Given the description of an element on the screen output the (x, y) to click on. 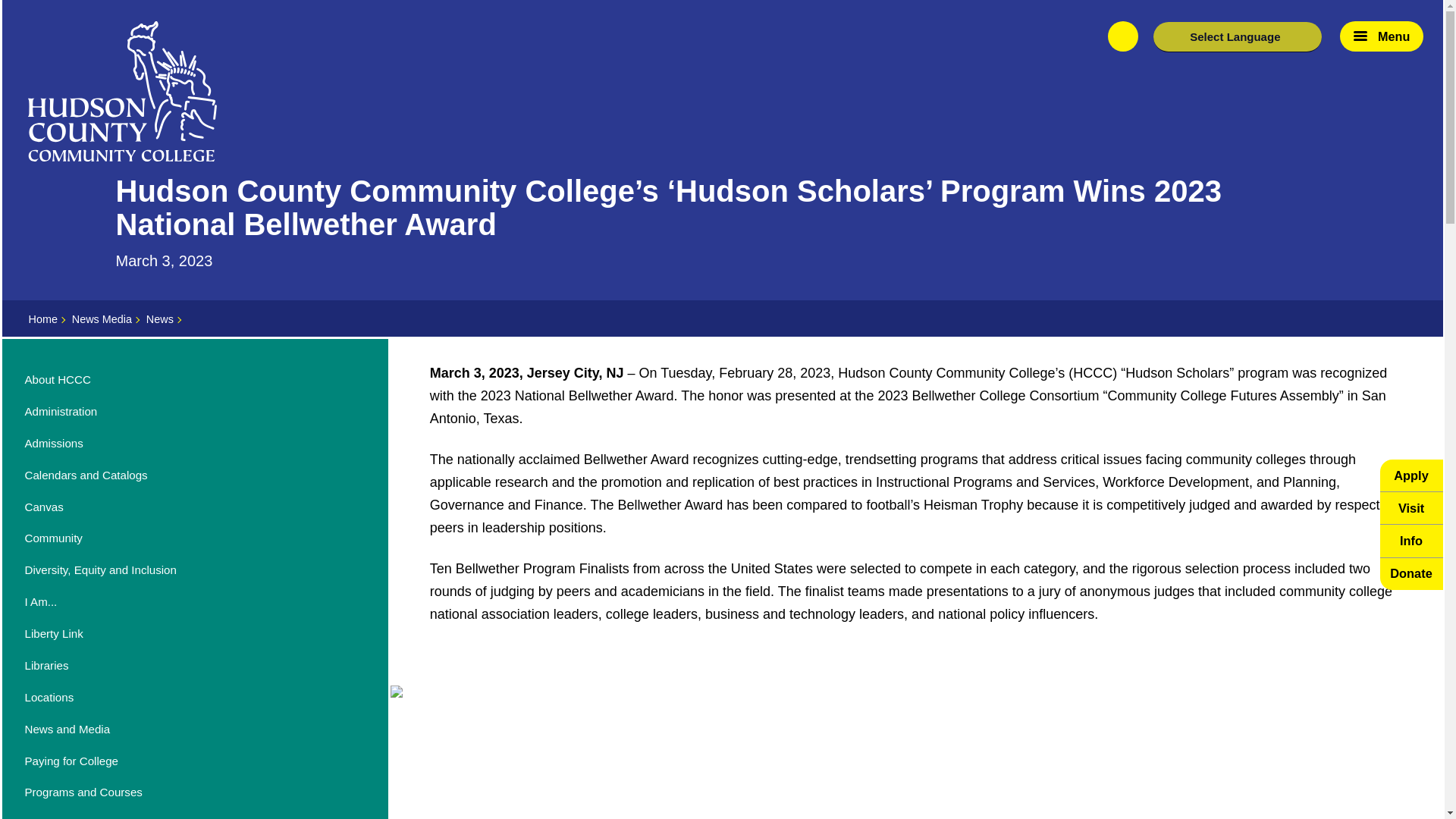
search (1123, 36)
Hudson County Community College Logo (121, 91)
Menu (1381, 36)
